Given the description of an element on the screen output the (x, y) to click on. 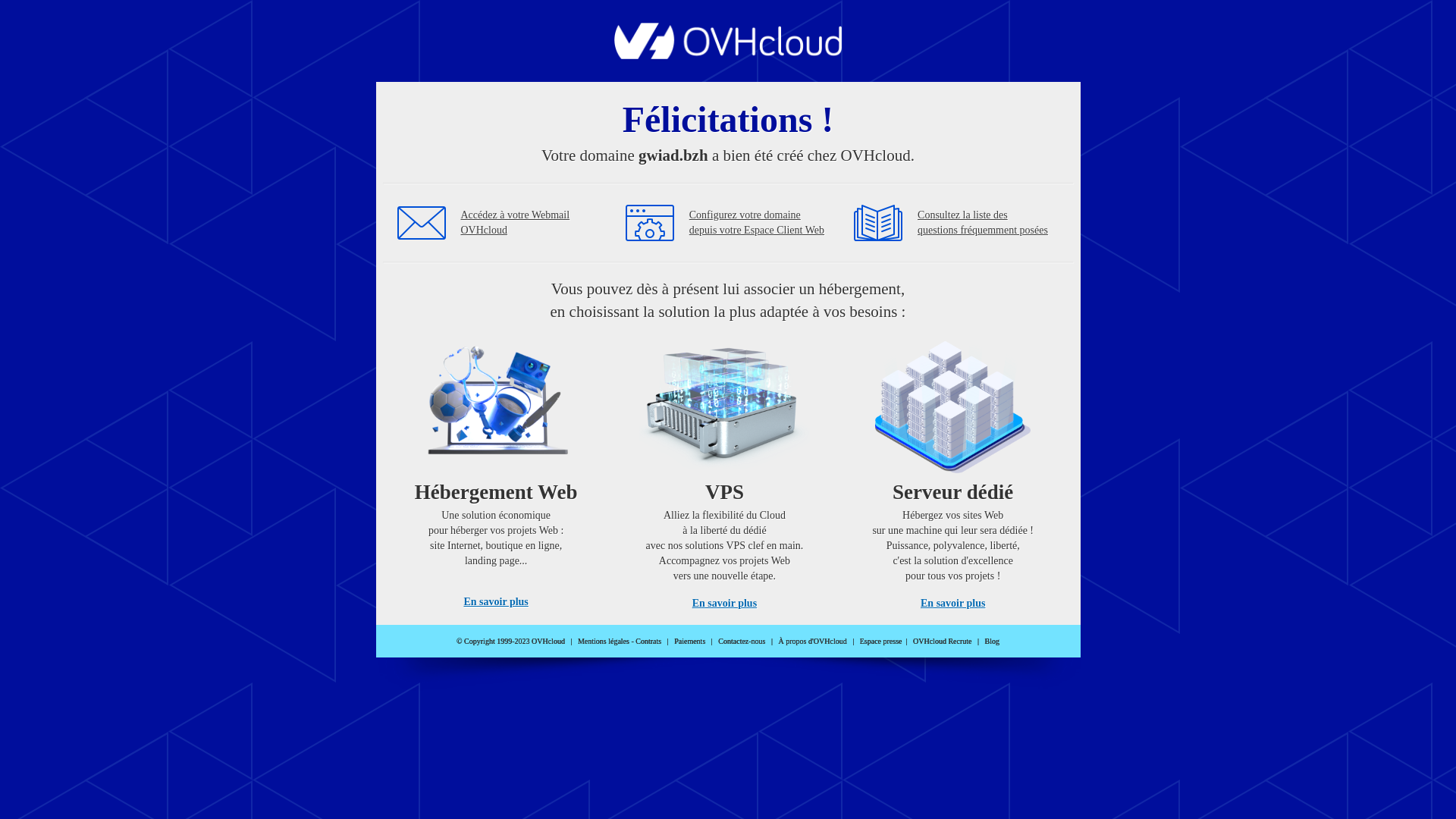
OVHcloud Recrute Element type: text (942, 641)
Paiements Element type: text (689, 641)
Configurez votre domaine
depuis votre Espace Client Web Element type: text (756, 222)
En savoir plus Element type: text (724, 602)
VPS Element type: hover (724, 469)
OVHcloud Element type: hover (727, 54)
En savoir plus Element type: text (495, 601)
Blog Element type: text (992, 641)
Espace presse Element type: text (880, 641)
Contactez-nous Element type: text (741, 641)
En savoir plus Element type: text (952, 602)
